Given the description of an element on the screen output the (x, y) to click on. 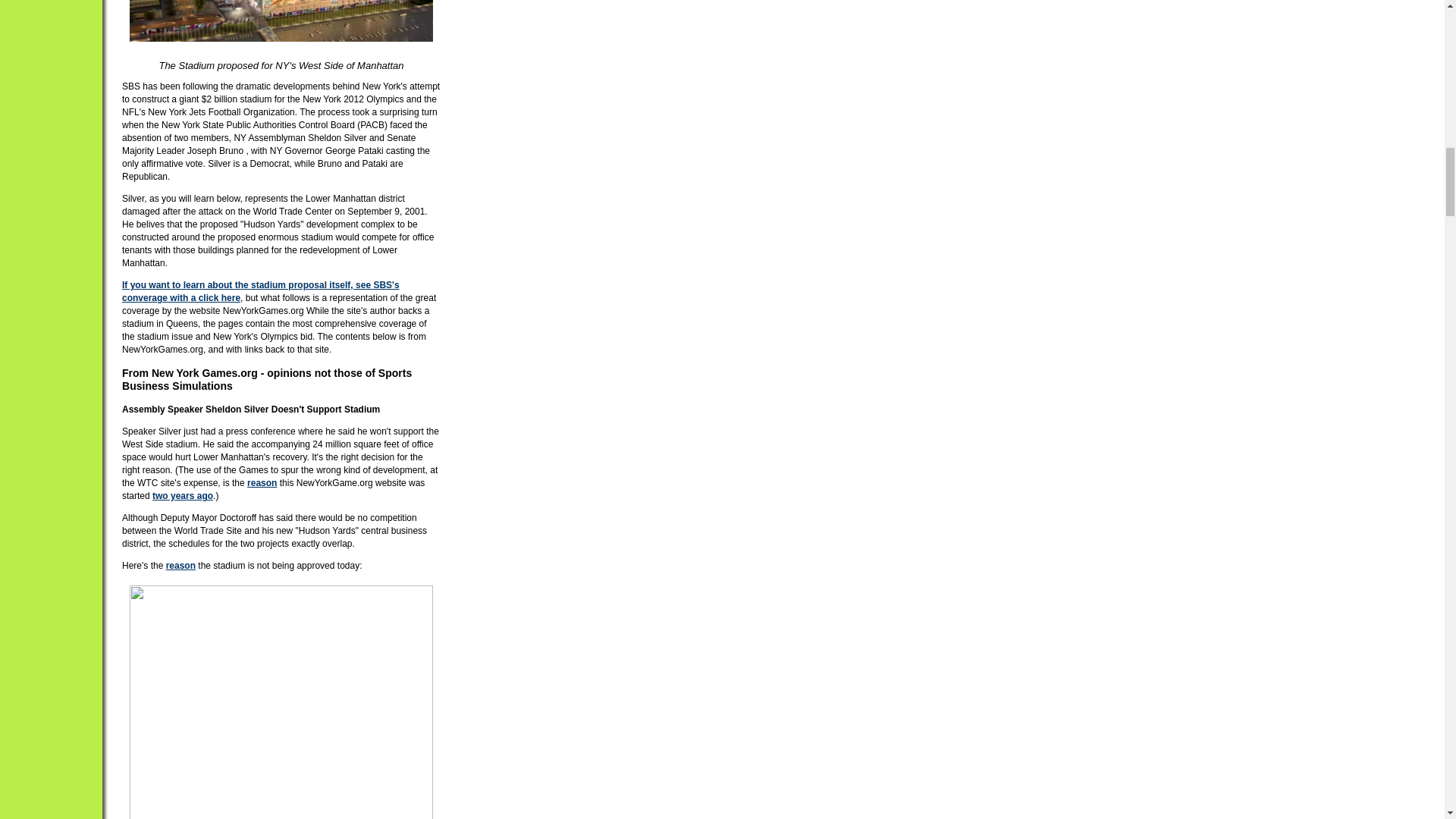
reason (261, 482)
reason (180, 565)
two years ago (182, 495)
